Given the description of an element on the screen output the (x, y) to click on. 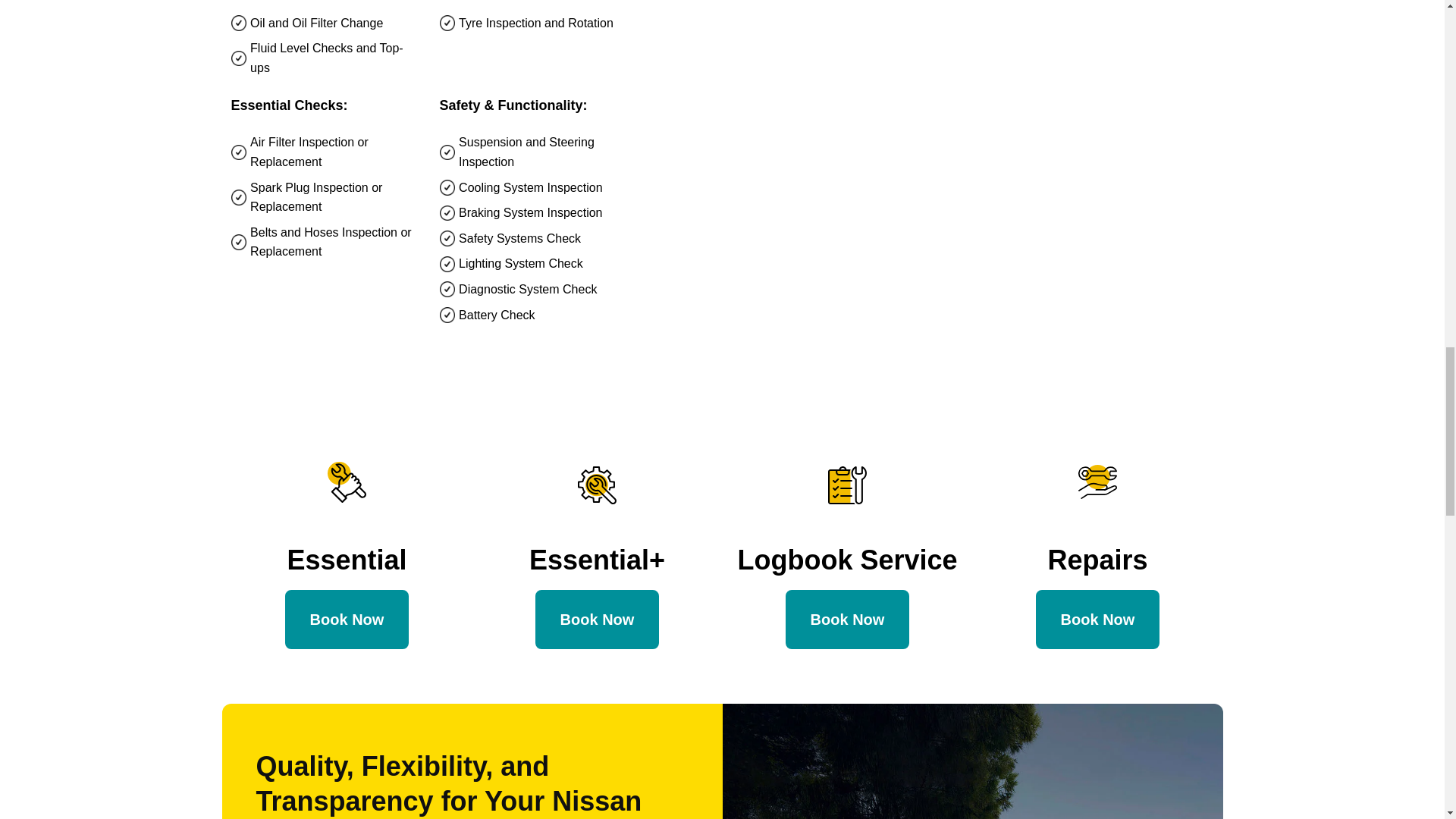
Book Now (597, 619)
Book Now (347, 619)
